Given the description of an element on the screen output the (x, y) to click on. 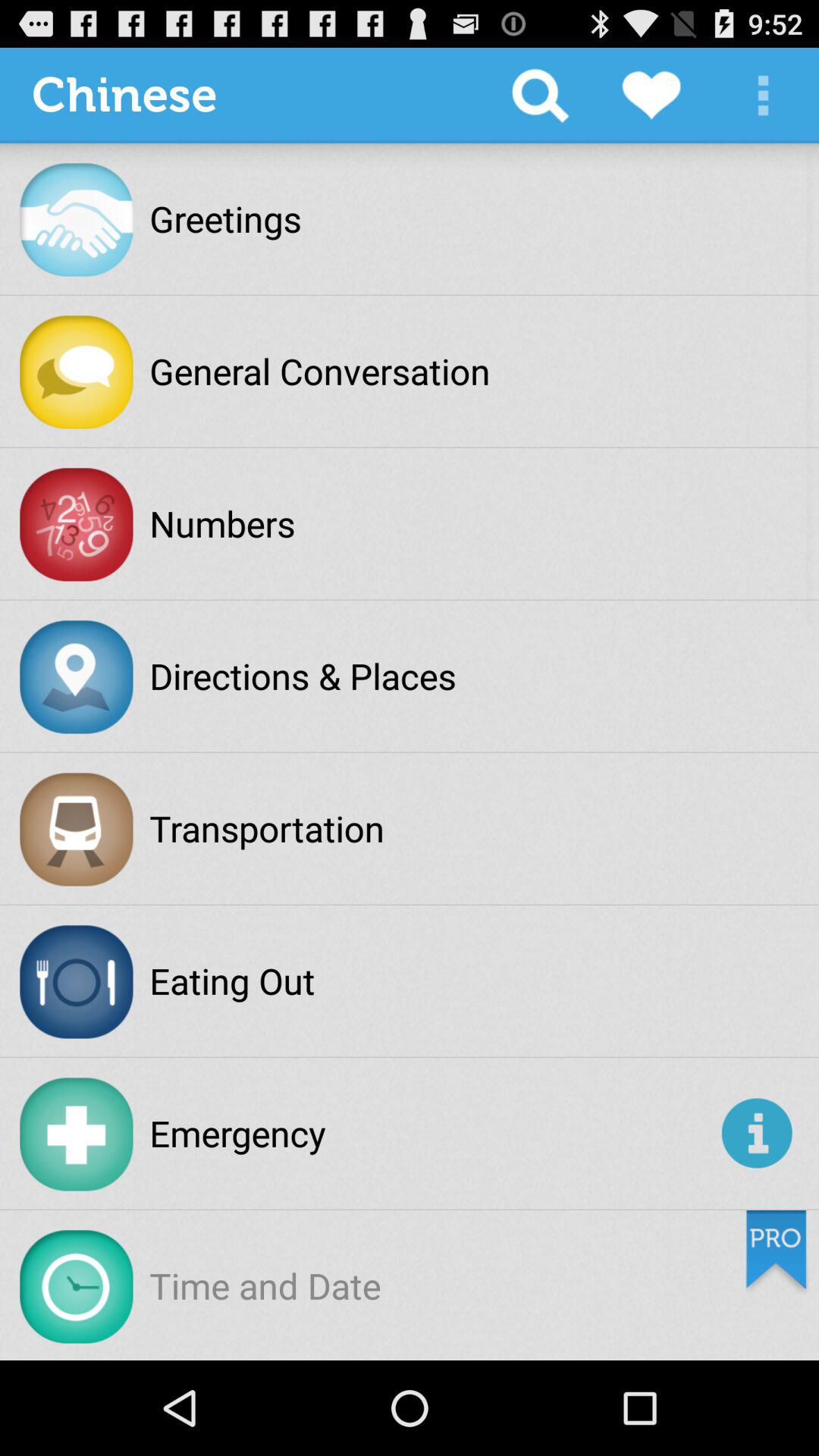
tap the emergency (432, 1133)
